Given the description of an element on the screen output the (x, y) to click on. 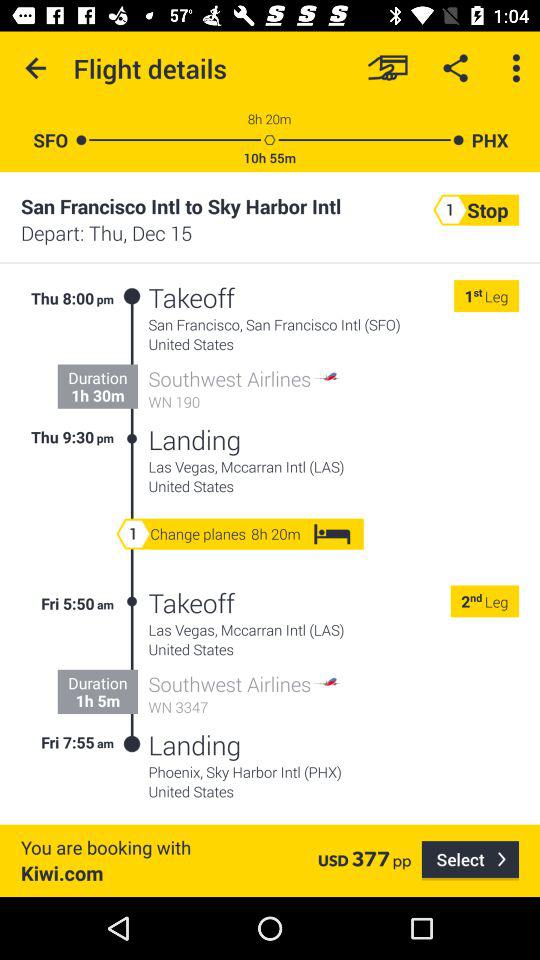
press the icon above the fri 7:55 (97, 700)
